Given the description of an element on the screen output the (x, y) to click on. 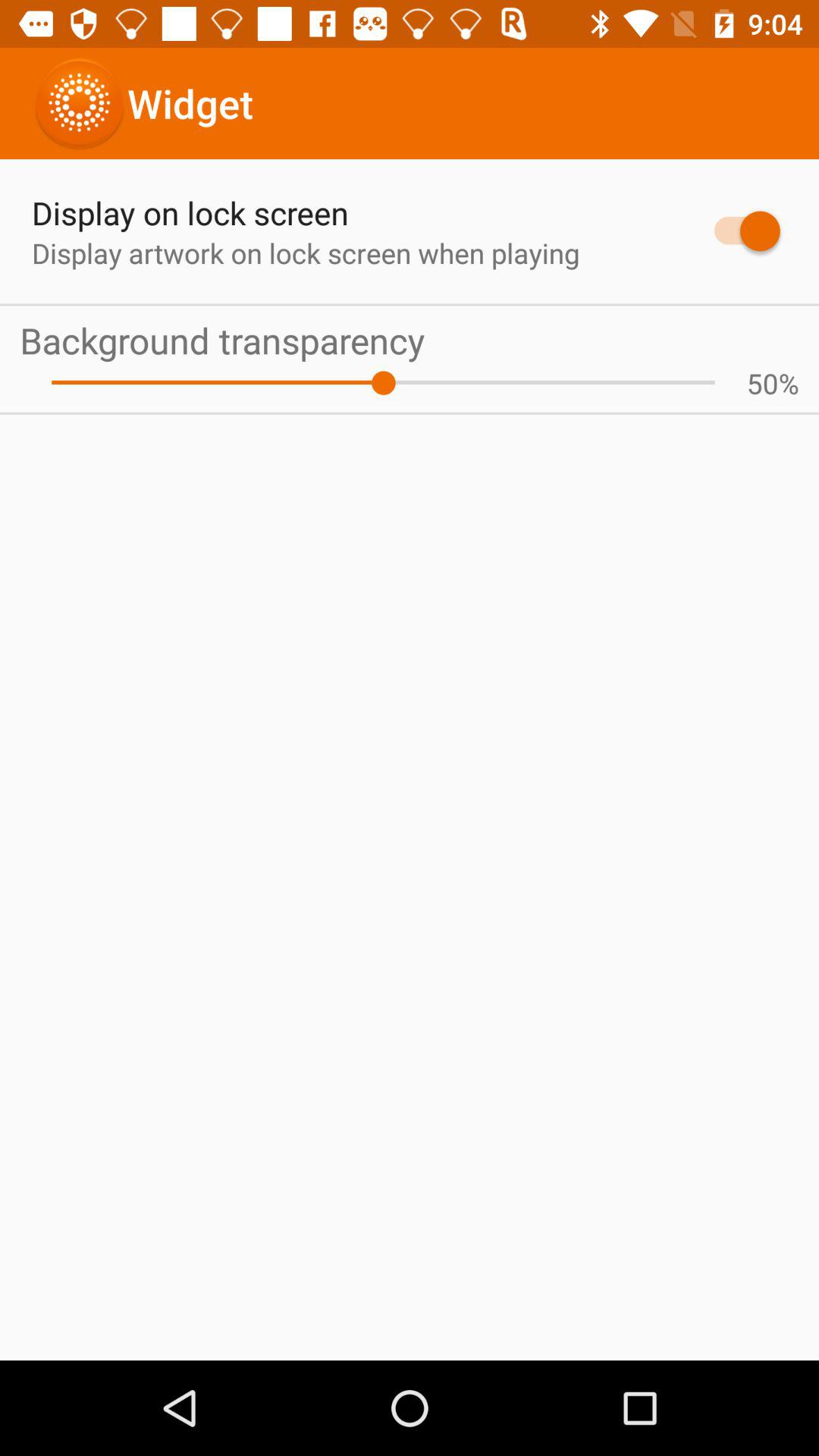
turn on app next to the 50 item (788, 383)
